Given the description of an element on the screen output the (x, y) to click on. 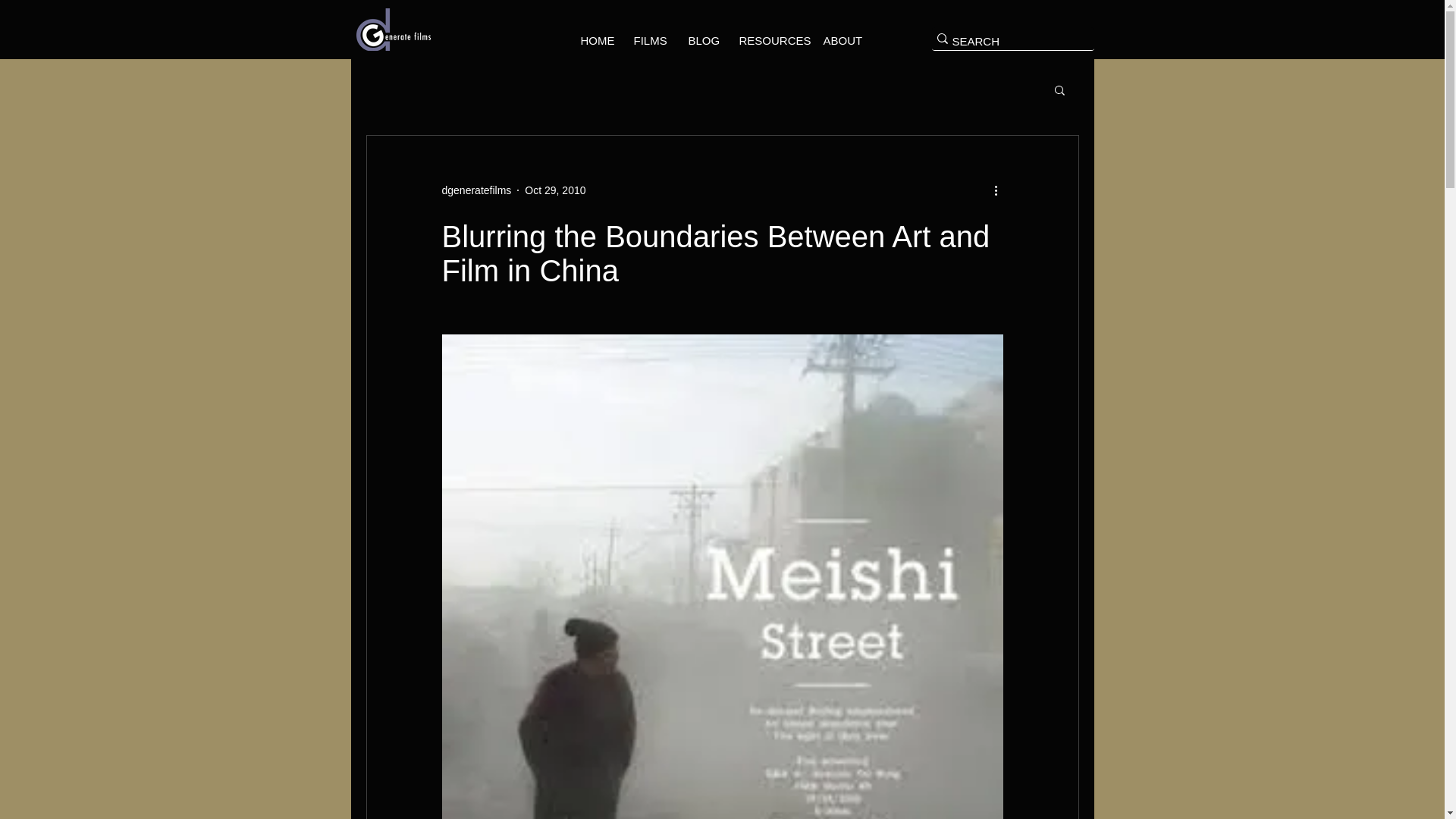
RESOURCES (768, 40)
BLOG (701, 40)
HOME (595, 40)
dGF Logo-white.png (393, 29)
dgeneratefilms (476, 189)
Oct 29, 2010 (554, 189)
